Given the description of an element on the screen output the (x, y) to click on. 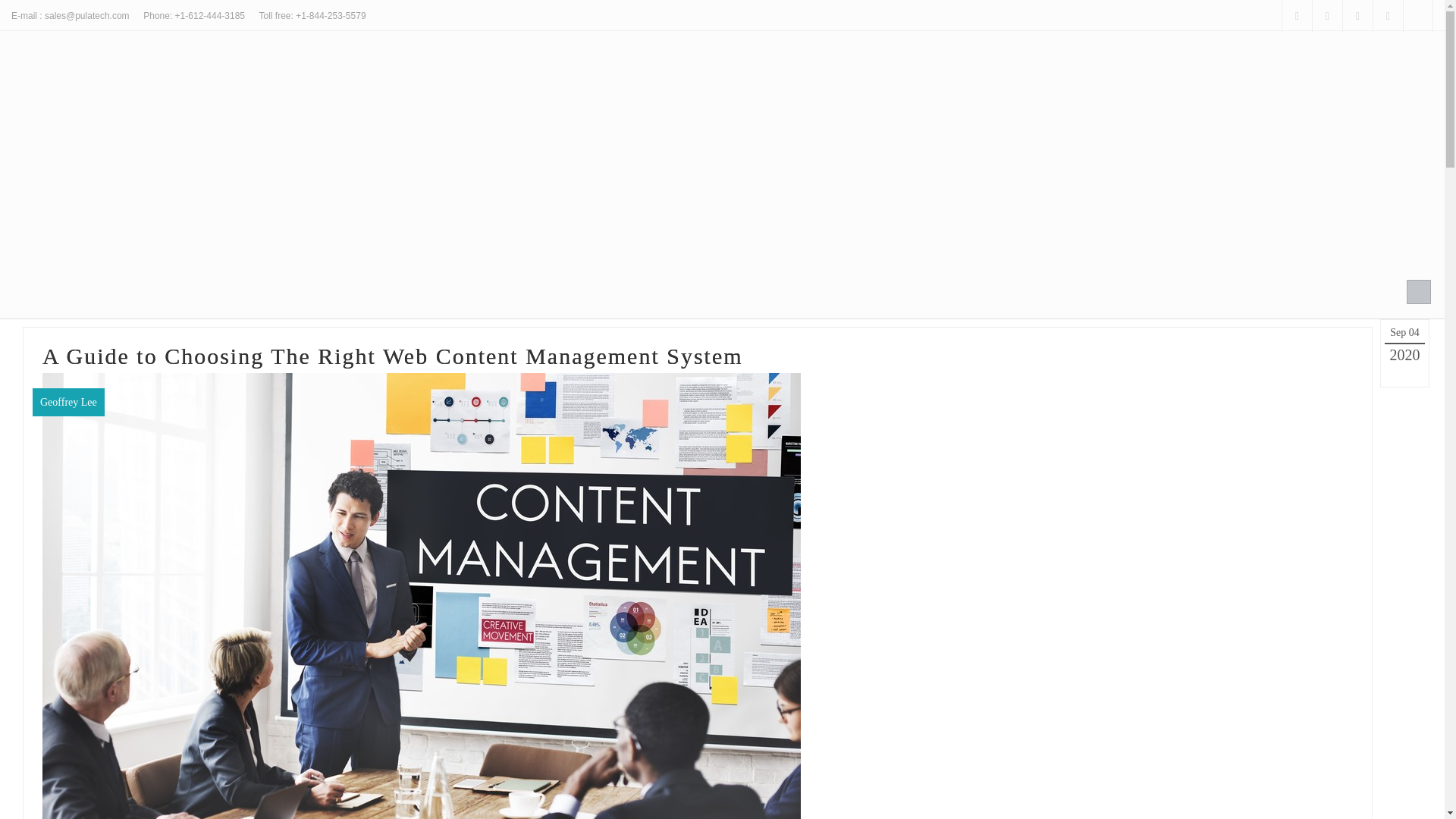
Geoffrey Lee (68, 401)
Search (1404, 332)
Search (1418, 291)
